Given the description of an element on the screen output the (x, y) to click on. 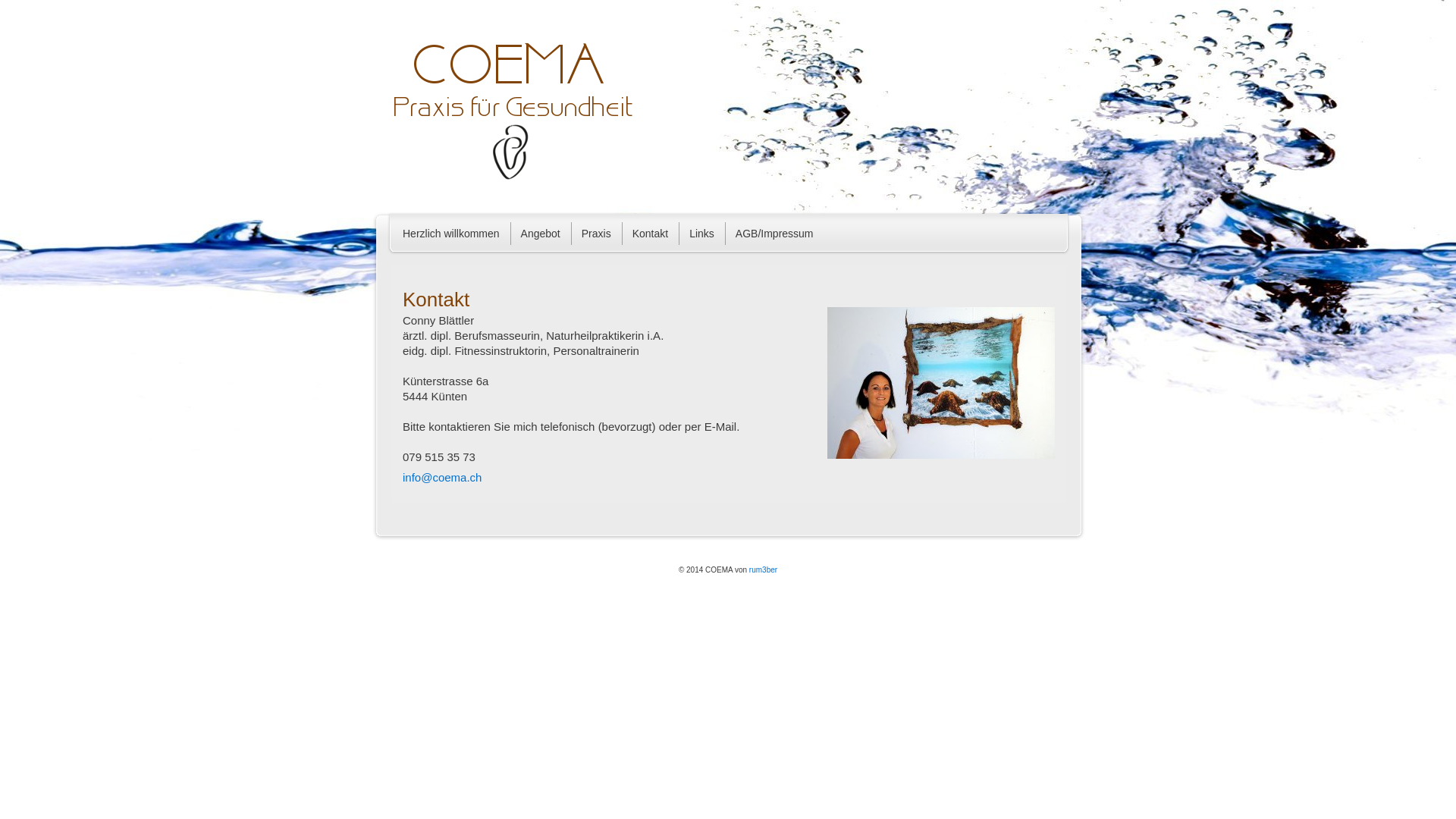
Herzlich willkommen Element type: text (451, 233)
Kontakt Element type: text (649, 233)
Praxis Element type: text (596, 233)
Angebot Element type: text (540, 233)
Links Element type: text (701, 233)
info@coema.ch Element type: text (441, 476)
AGB/Impressum Element type: text (774, 233)
rum3ber Element type: text (763, 567)
